Given the description of an element on the screen output the (x, y) to click on. 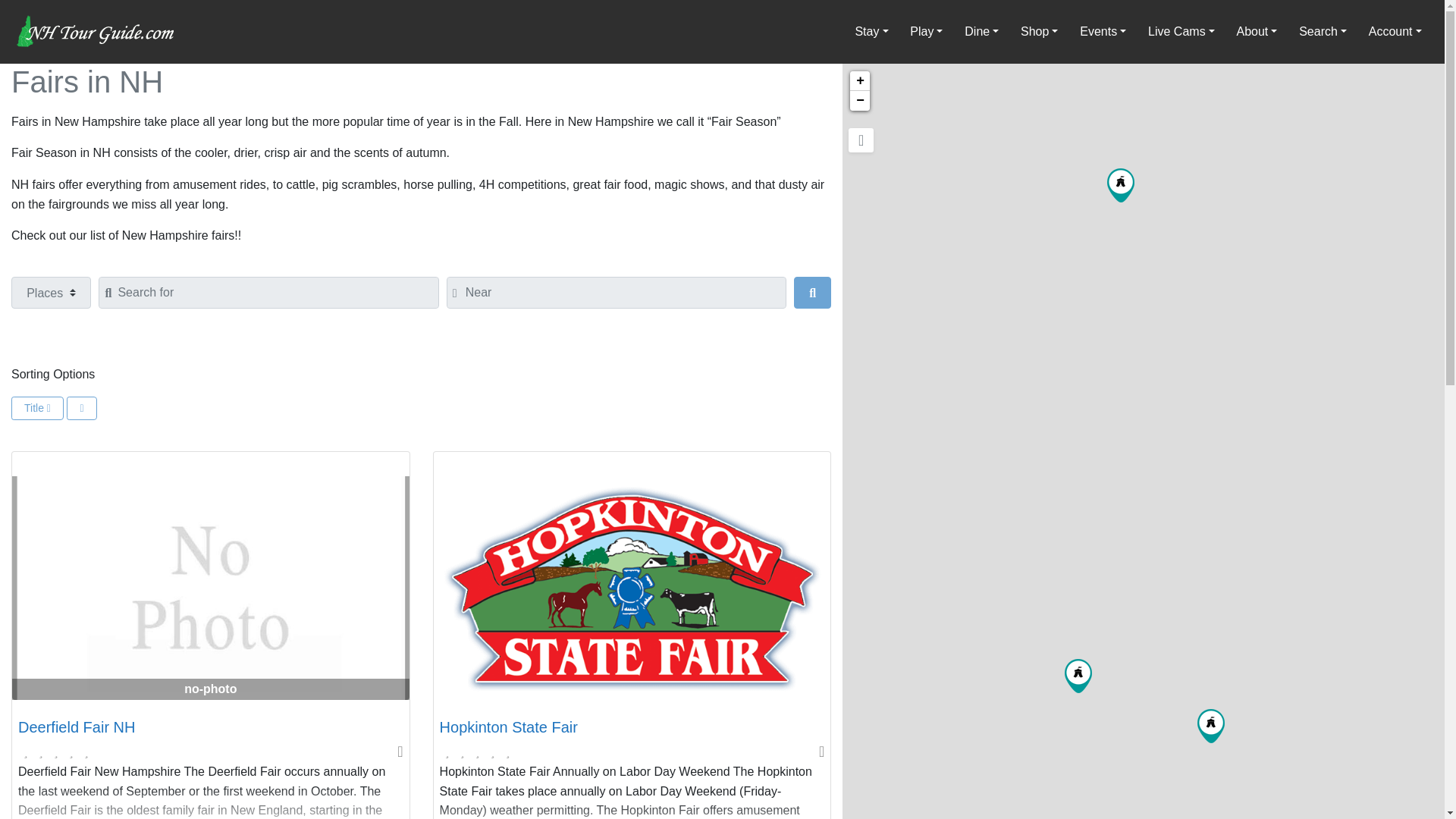
New Hampshire's Guide to All Places and Things to do in NH (95, 30)
View: Hopkinton State Fair (508, 727)
Play (926, 31)
no-photo (210, 587)
No rating yet! (55, 752)
Stay (871, 31)
View: Deerfield Fair NH (76, 727)
No rating yet! (477, 752)
